Given the description of an element on the screen output the (x, y) to click on. 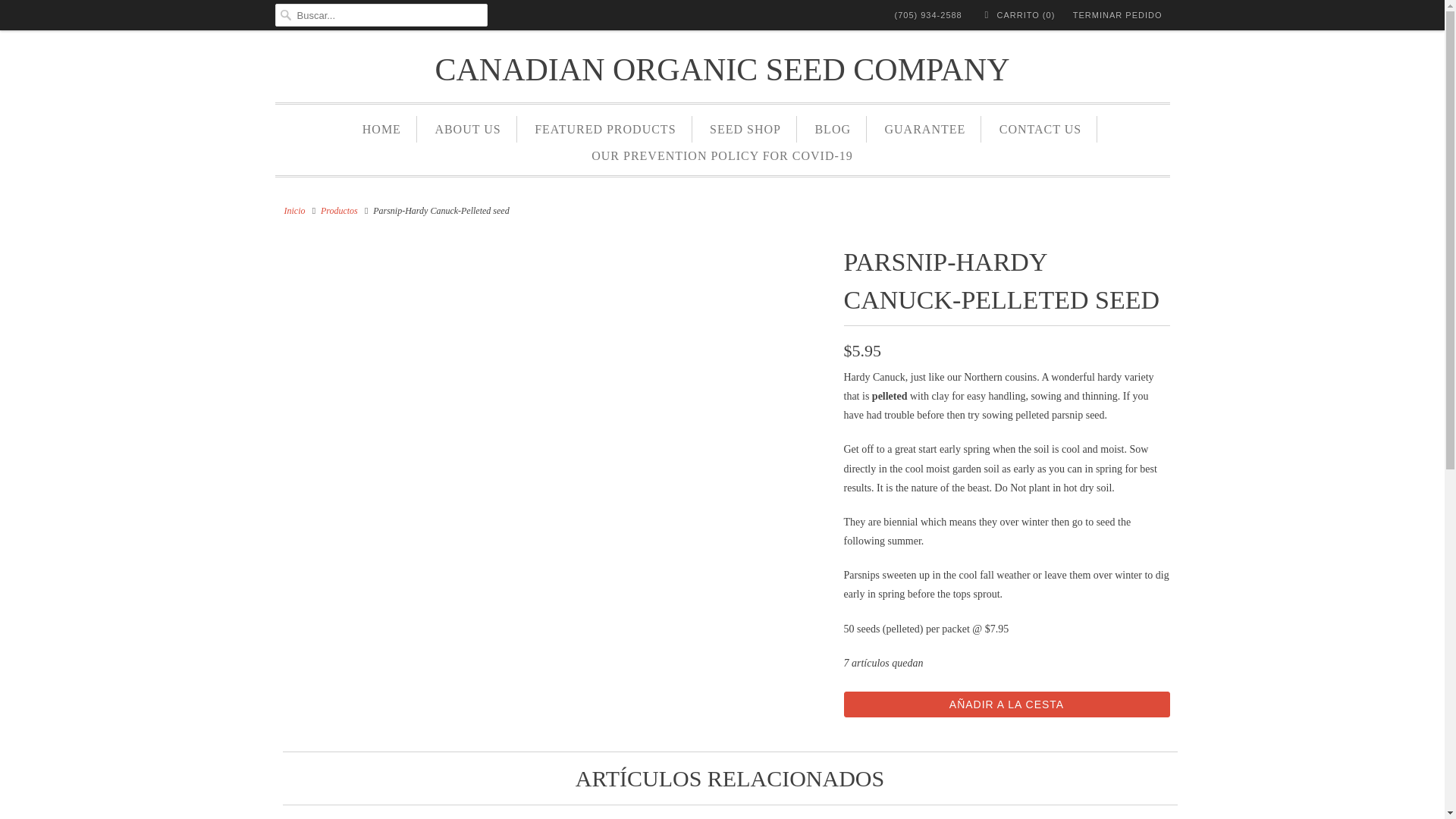
SEED SHOP (745, 129)
Canadian Organic Seed Company (722, 69)
ABOUT US (466, 129)
CANADIAN ORGANIC SEED COMPANY (722, 69)
HOME (381, 129)
BLOG (831, 129)
CONTACT US (1039, 129)
Canadian Organic Seed Company (293, 210)
TERMINAR PEDIDO (1117, 15)
OUR PREVENTION POLICY FOR COVID-19 (722, 155)
